Given the description of an element on the screen output the (x, y) to click on. 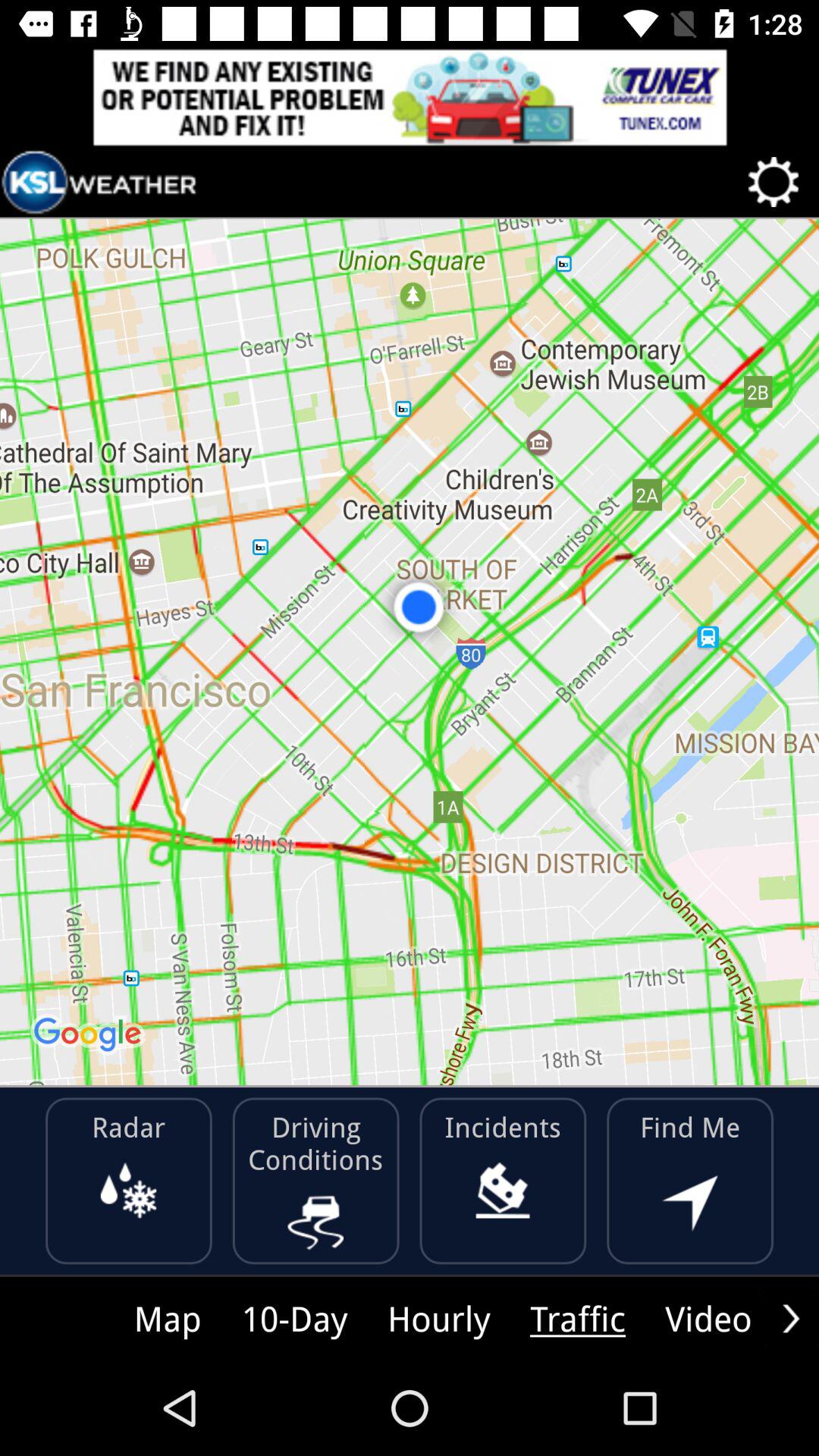
banner advertisement (409, 97)
